Given the description of an element on the screen output the (x, y) to click on. 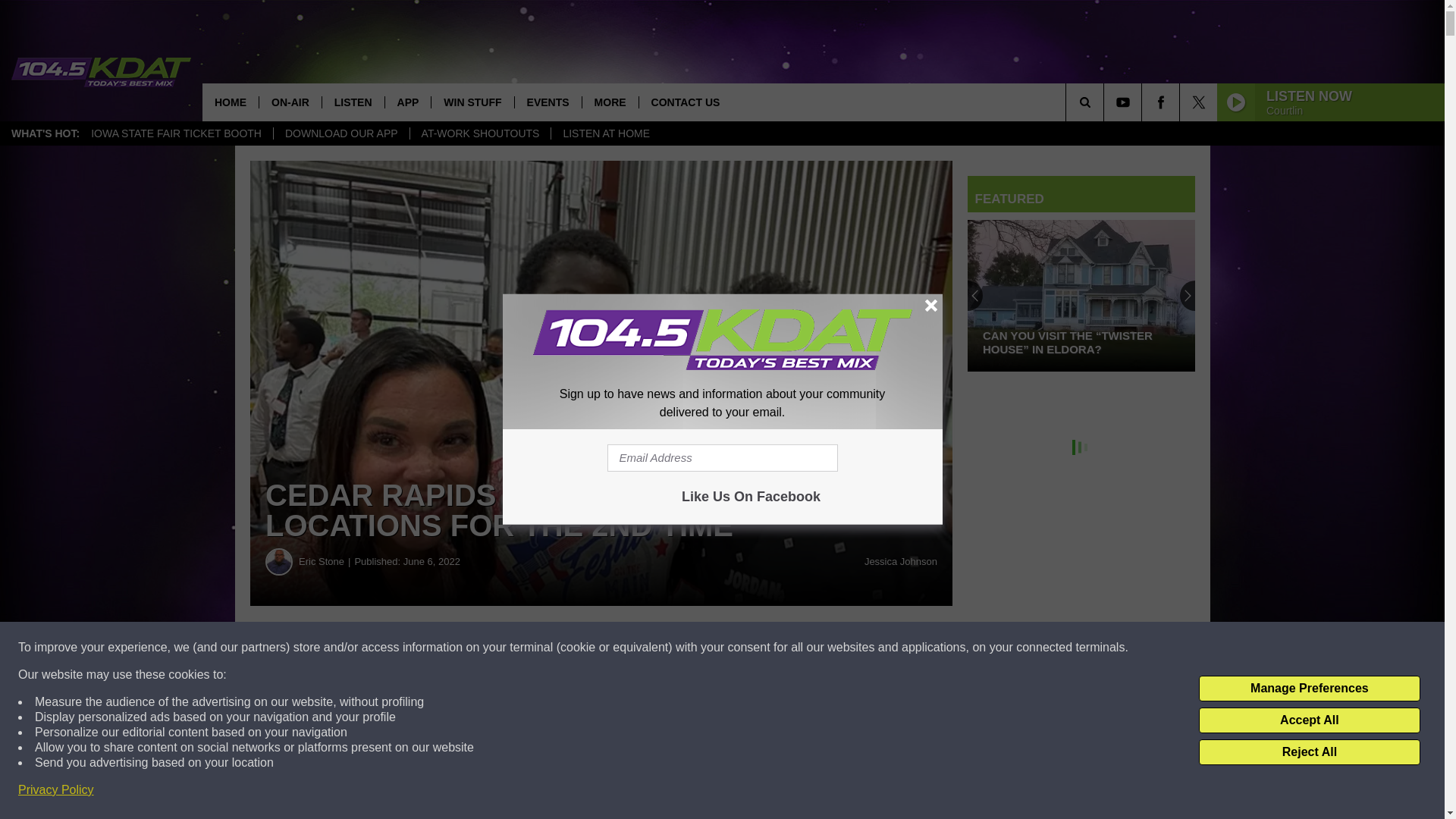
EVENTS (546, 102)
AT-WORK SHOUTOUTS (480, 133)
MORE (609, 102)
LISTEN (352, 102)
ON-AIR (290, 102)
SEARCH (1106, 102)
Reject All (1309, 751)
Email Address (722, 457)
Accept All (1309, 720)
Share on Twitter (741, 647)
HOME (230, 102)
Manage Preferences (1309, 688)
Share on Facebook (460, 647)
IOWA STATE FAIR TICKET BOOTH (176, 133)
SEARCH (1106, 102)
